Given the description of an element on the screen output the (x, y) to click on. 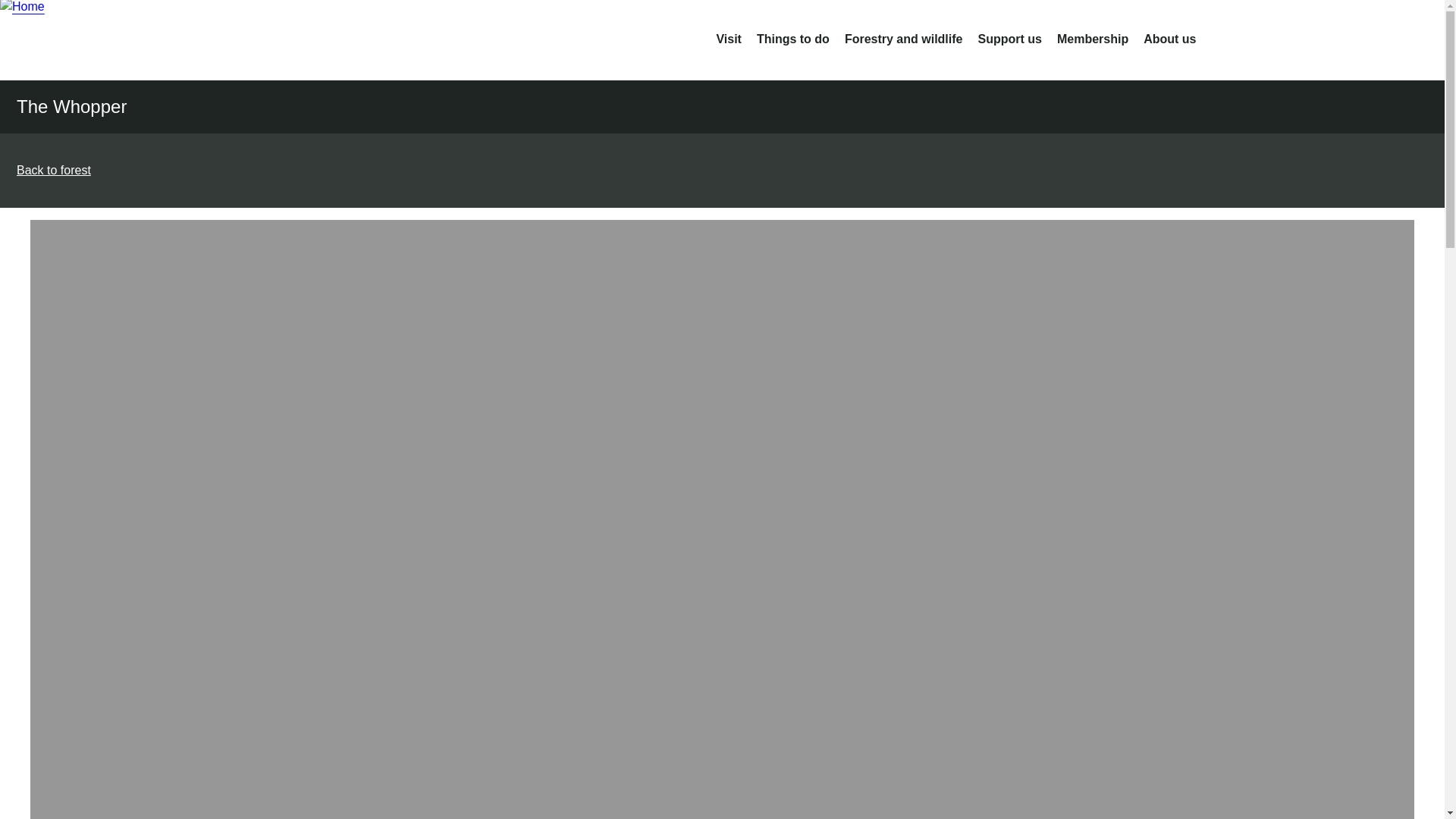
Things to do (793, 38)
Forestry and wildlife (903, 38)
Visit (728, 38)
Home (120, 40)
